Given the description of an element on the screen output the (x, y) to click on. 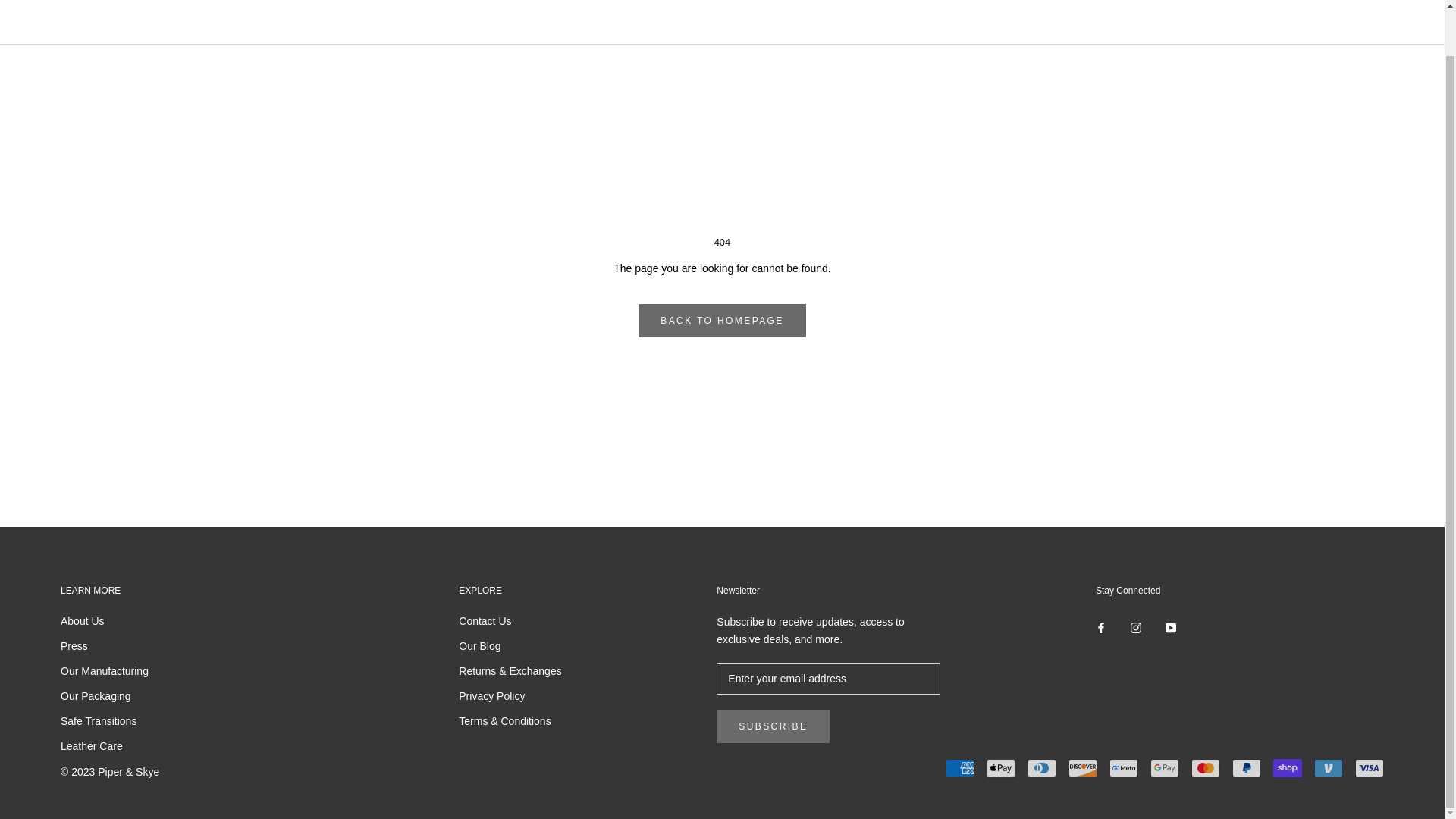
Apple Pay (1000, 768)
Meta Pay (1123, 768)
Shop Pay (1286, 768)
Google Pay (1164, 768)
Discover (1082, 768)
Diners Club (1042, 768)
Mastercard (1205, 768)
American Express (959, 768)
AED (79, 13)
PayPal (1245, 768)
